Given the description of an element on the screen output the (x, y) to click on. 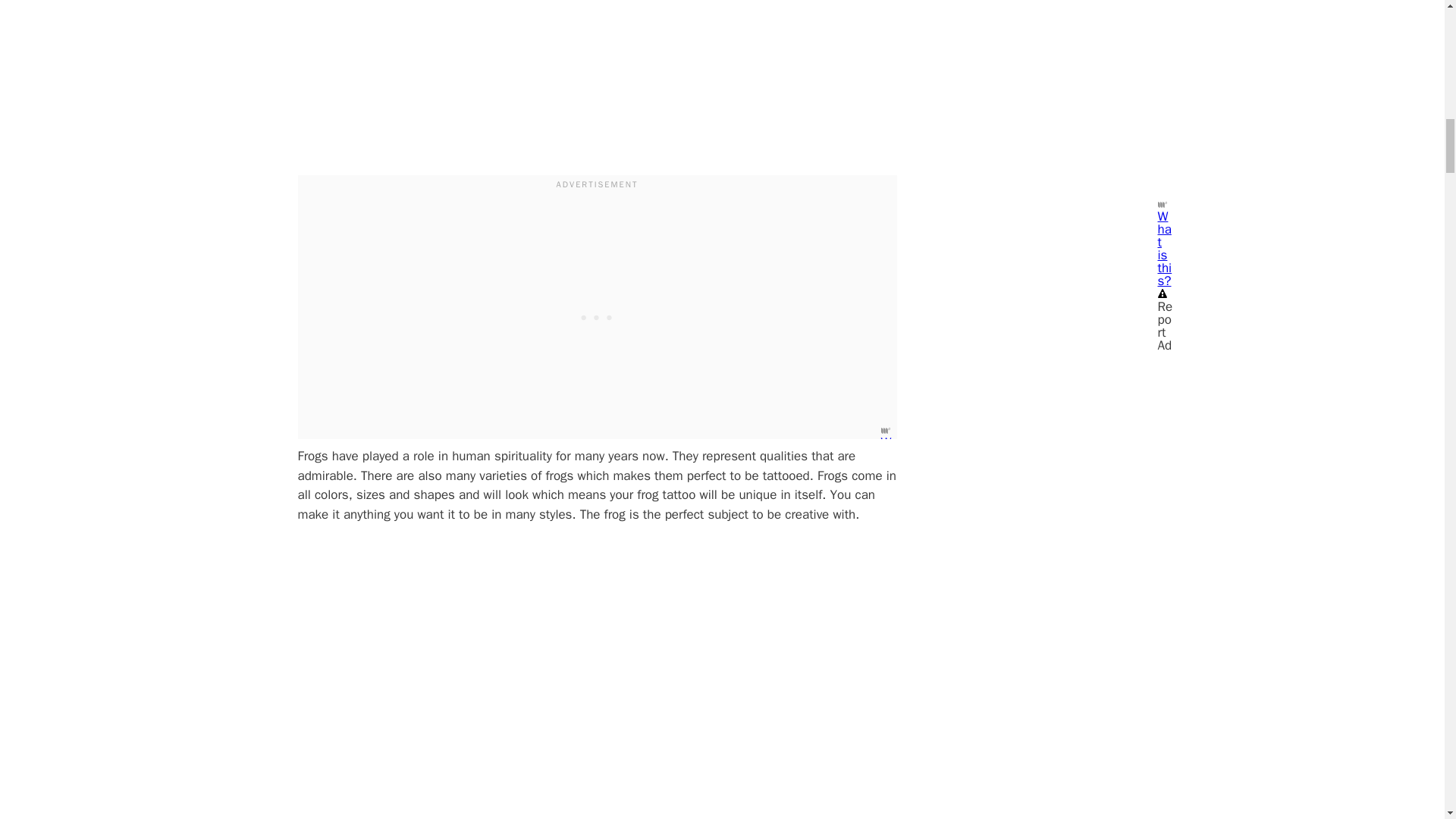
3rd party ad content (597, 315)
100 Ribbiting Frog Tattoo Designs, Ideas, and Meanings (468, 74)
